Given the description of an element on the screen output the (x, y) to click on. 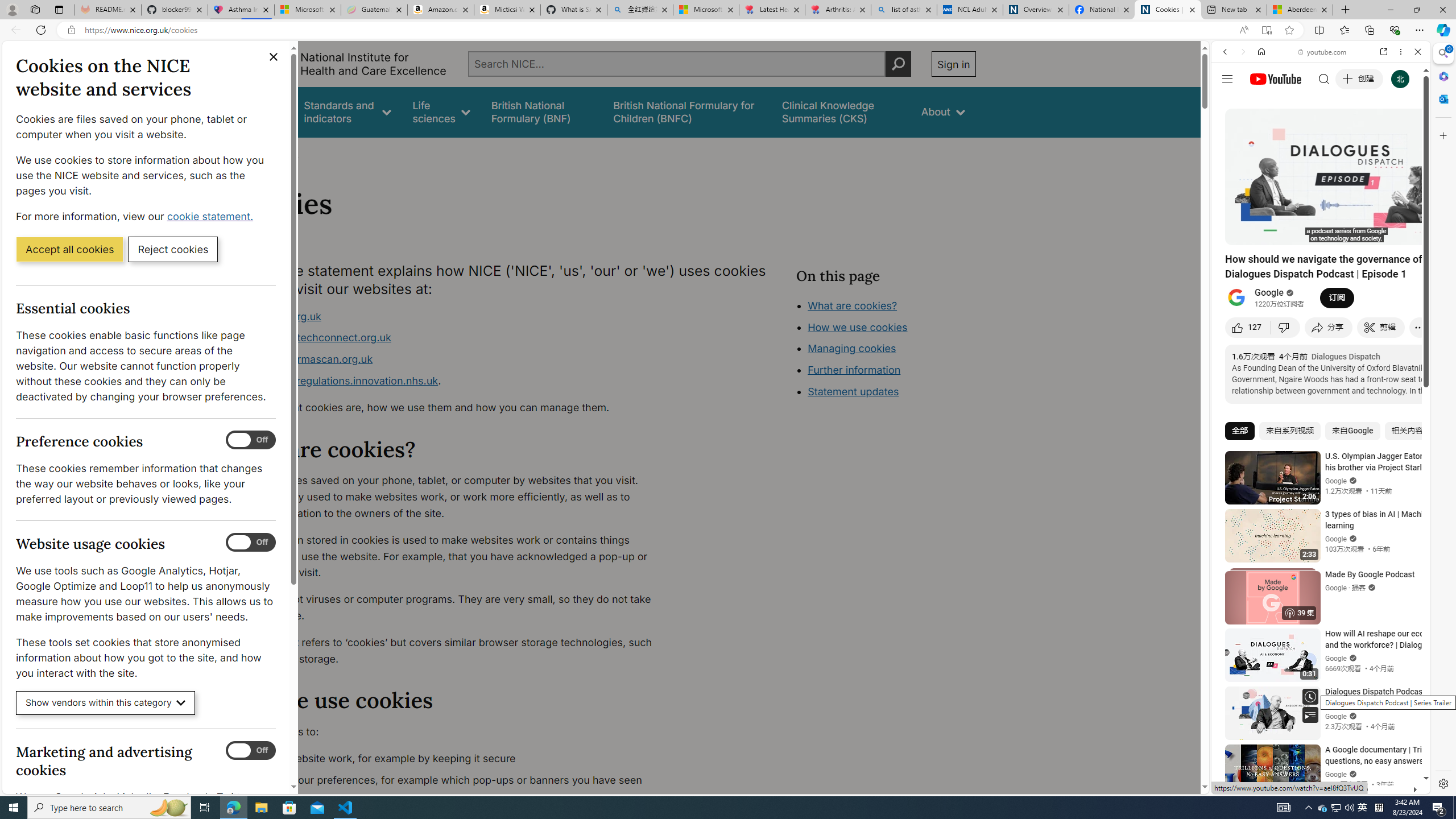
Life sciences (440, 111)
false (841, 111)
WEB   (1230, 130)
